Given the description of an element on the screen output the (x, y) to click on. 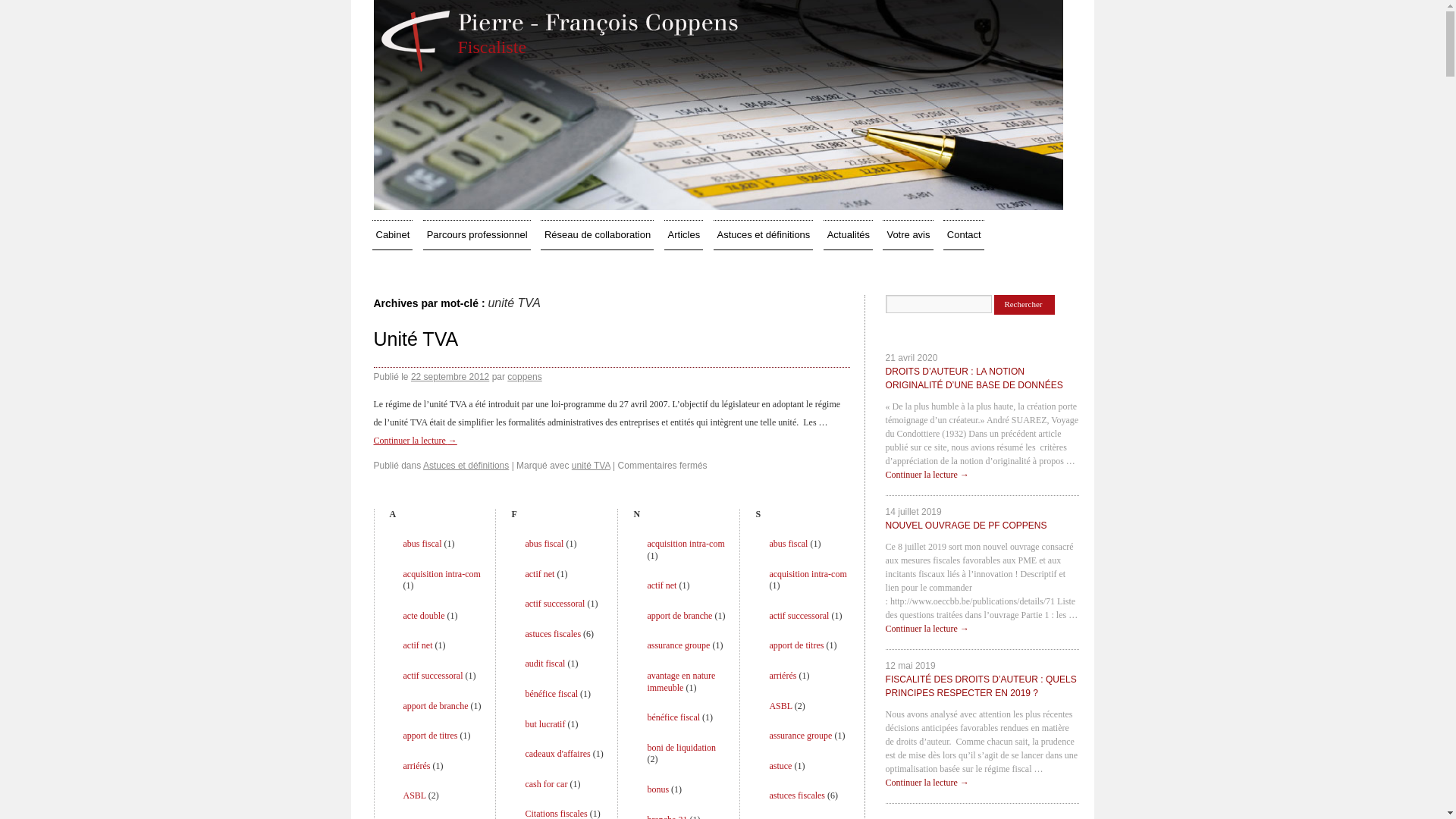
actif net Element type: text (539, 573)
coppens Element type: text (524, 376)
abus fiscal Element type: text (787, 543)
abus fiscal Element type: text (543, 543)
but lucratif Element type: text (544, 723)
Contact Element type: text (963, 234)
astuces fiscales Element type: text (552, 633)
apport de branche Element type: text (435, 705)
actif successoral Element type: text (798, 615)
boni de liquidation Element type: text (680, 747)
22 septembre 2012 Element type: text (450, 376)
cadeaux d'affaires Element type: text (556, 753)
Rechercher Element type: text (1024, 304)
cash for car Element type: text (545, 783)
acquisition intra-com Element type: text (441, 573)
apport de titres Element type: text (795, 645)
Cabinet Element type: text (391, 234)
astuce Element type: text (779, 765)
Votre avis Element type: text (907, 234)
assurance groupe Element type: text (677, 645)
assurance groupe Element type: text (799, 735)
apport de titres Element type: text (430, 735)
actif net Element type: text (661, 585)
abus fiscal Element type: text (422, 543)
astuces fiscales Element type: text (796, 795)
actif successoral Element type: text (433, 675)
audit fiscal Element type: text (544, 663)
actif net Element type: text (418, 645)
acte double Element type: text (424, 615)
NOUVEL OUVRAGE DE PF COPPENS Element type: text (966, 521)
acquisition intra-com Element type: text (685, 543)
Articles Element type: text (683, 234)
apport de branche Element type: text (679, 615)
ASBL Element type: text (779, 705)
bonus Element type: text (657, 789)
ASBL Element type: text (414, 795)
acquisition intra-com Element type: text (807, 573)
avantage en nature immeuble Element type: text (680, 681)
Parcours professionnel Element type: text (476, 234)
actif successoral Element type: text (554, 603)
